Given the description of an element on the screen output the (x, y) to click on. 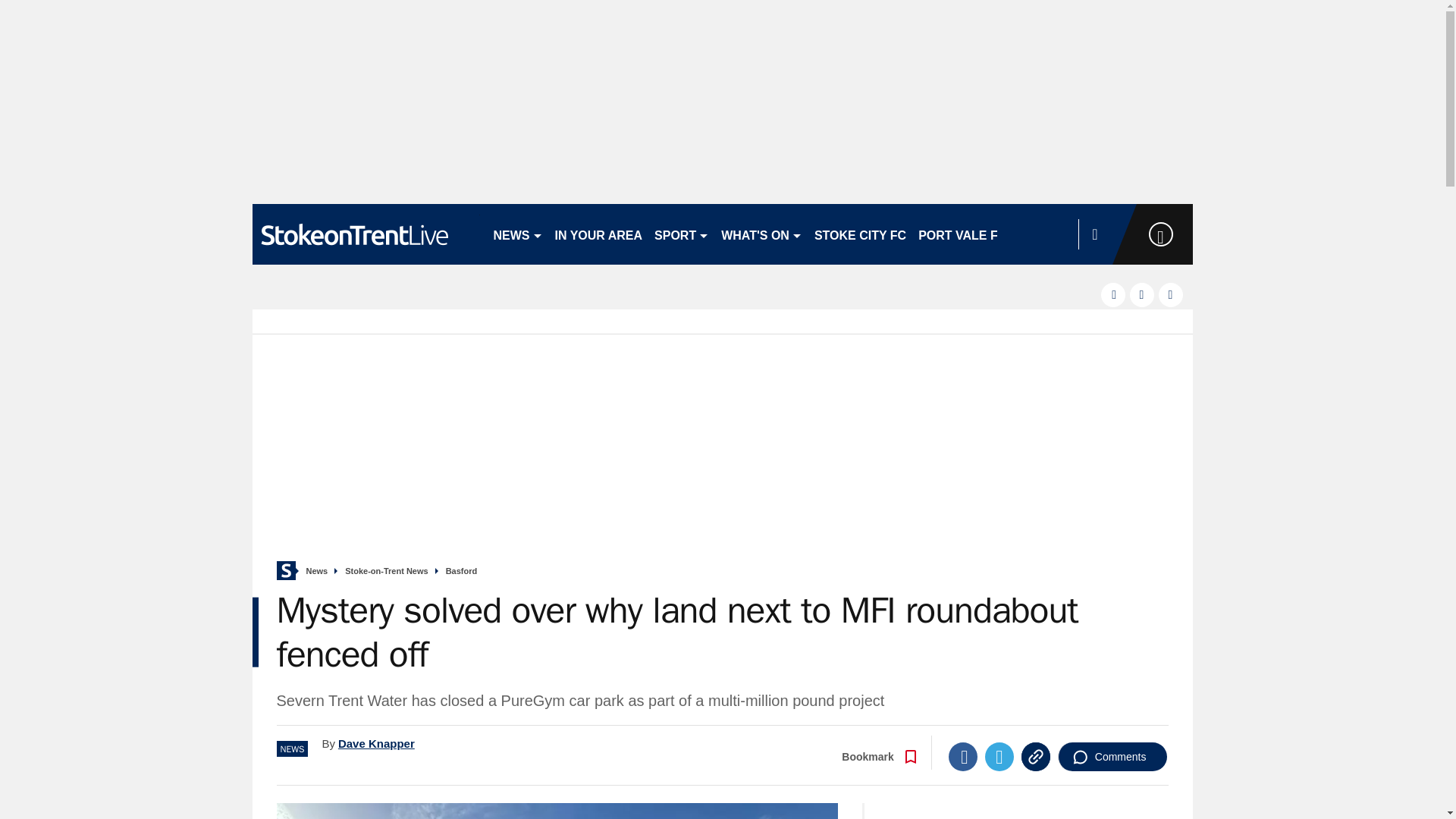
Comments (1112, 756)
instagram (1170, 294)
facebook (1112, 294)
stokesentinel (365, 233)
WHAT'S ON (761, 233)
SPORT (680, 233)
IN YOUR AREA (598, 233)
PORT VALE FC (961, 233)
STOKE CITY FC (860, 233)
Twitter (999, 756)
twitter (1141, 294)
NEWS (517, 233)
Facebook (962, 756)
